Given the description of an element on the screen output the (x, y) to click on. 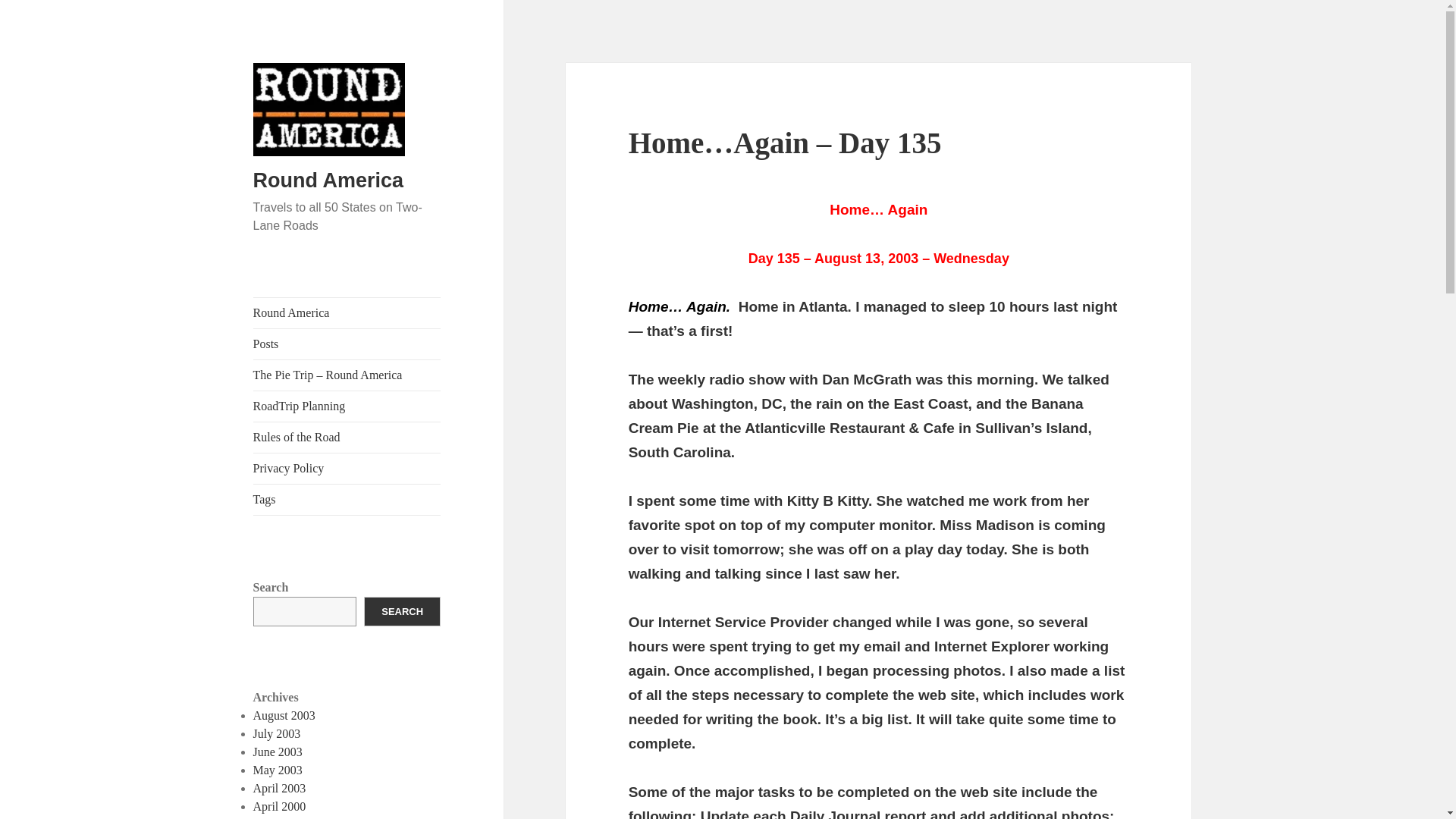
Tags (347, 499)
May 2003 (277, 769)
July 2003 (277, 733)
Round America (347, 313)
SEARCH (402, 611)
Privacy Policy (347, 468)
August 2003 (284, 715)
RoadTrip Planning (347, 406)
April 2000 (279, 806)
Round America (328, 179)
